Given the description of an element on the screen output the (x, y) to click on. 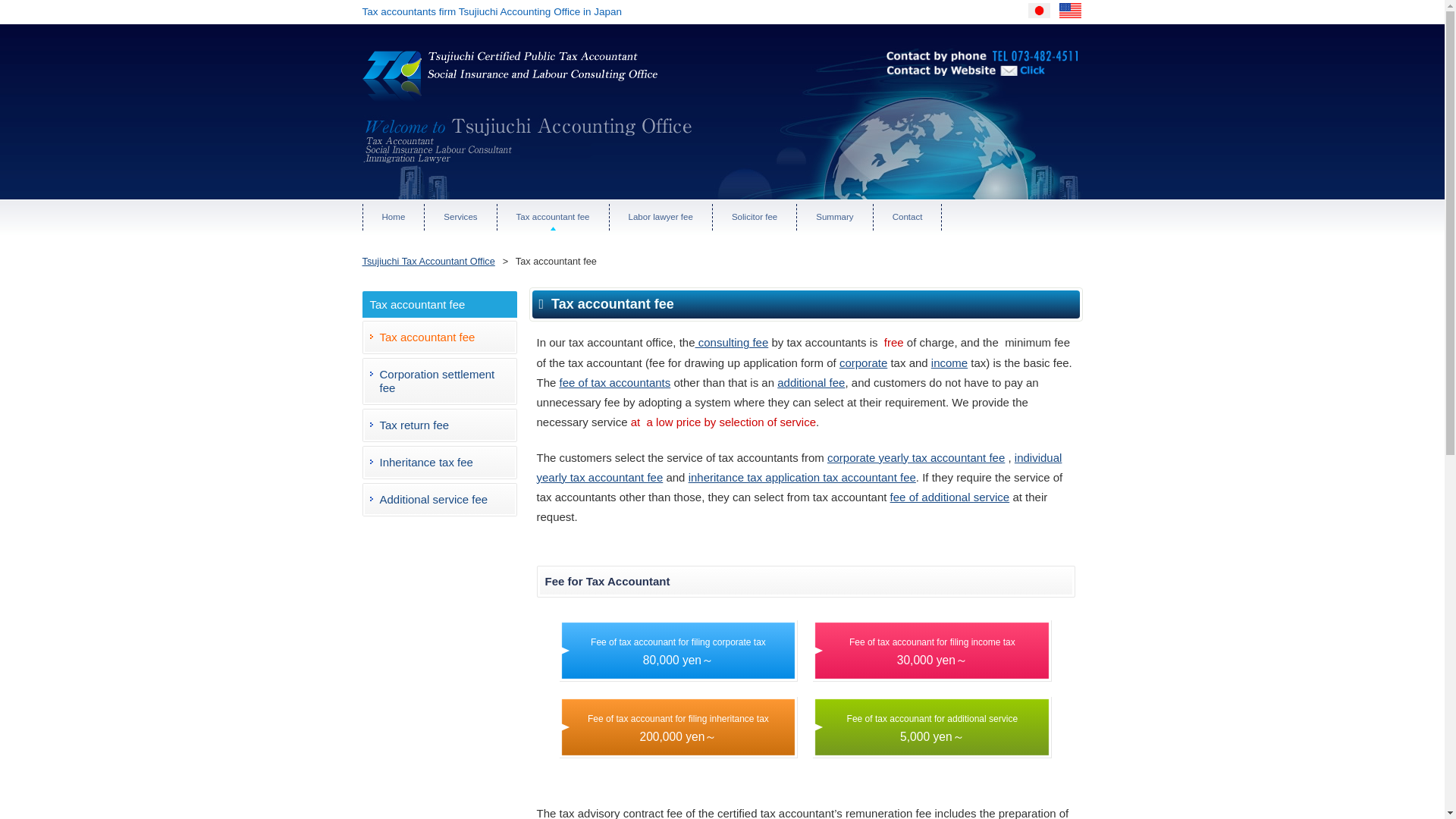
Contact by Website (965, 82)
Tax accountant fee (552, 216)
Solicitor fee (754, 216)
Summary (834, 216)
Labor lawyer fee (660, 216)
Home (392, 216)
Services (460, 216)
